Given the description of an element on the screen output the (x, y) to click on. 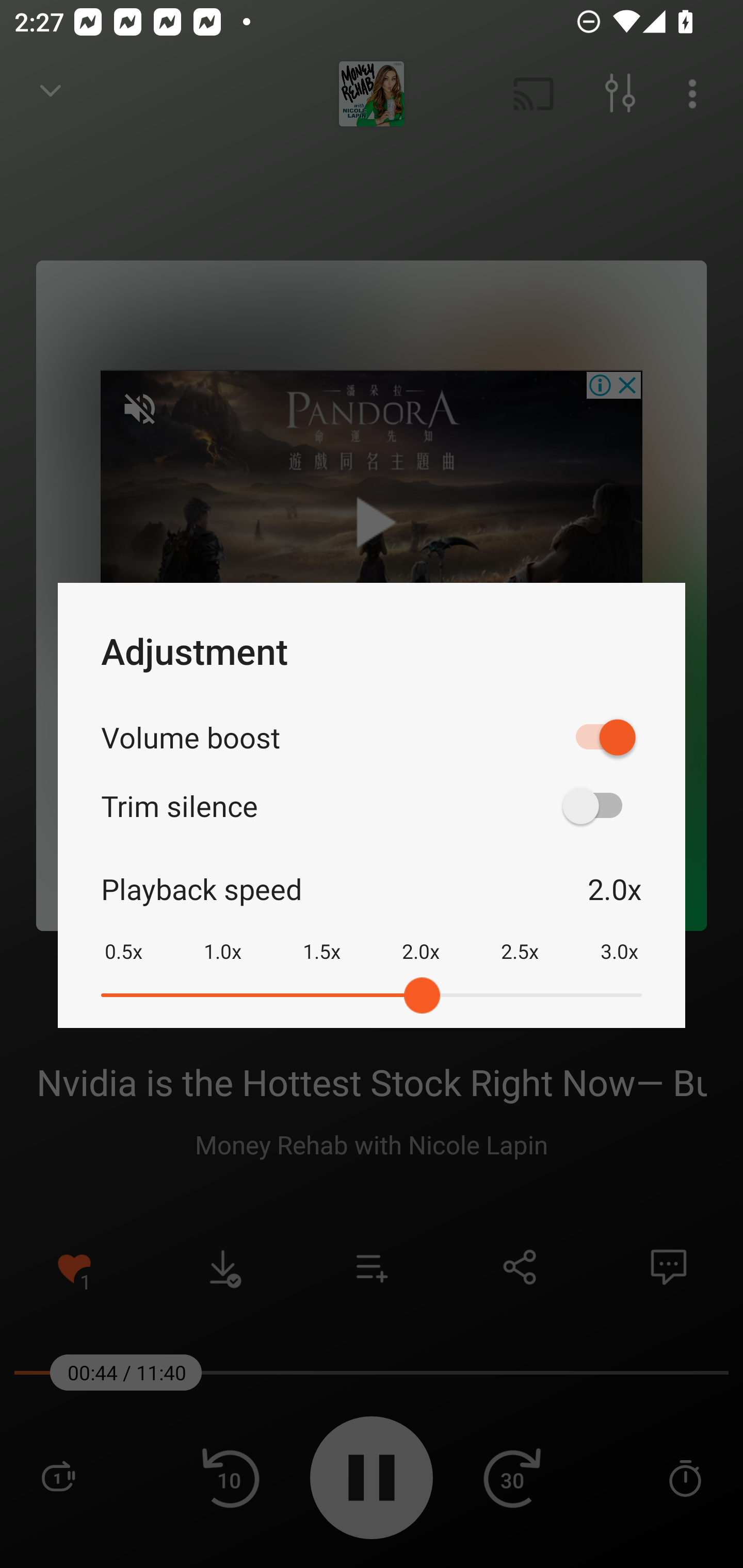
0.5x (123, 937)
1.0x (222, 937)
1.5x (321, 937)
2.0x (420, 937)
2.5x (519, 937)
3.0x (618, 937)
